Given the description of an element on the screen output the (x, y) to click on. 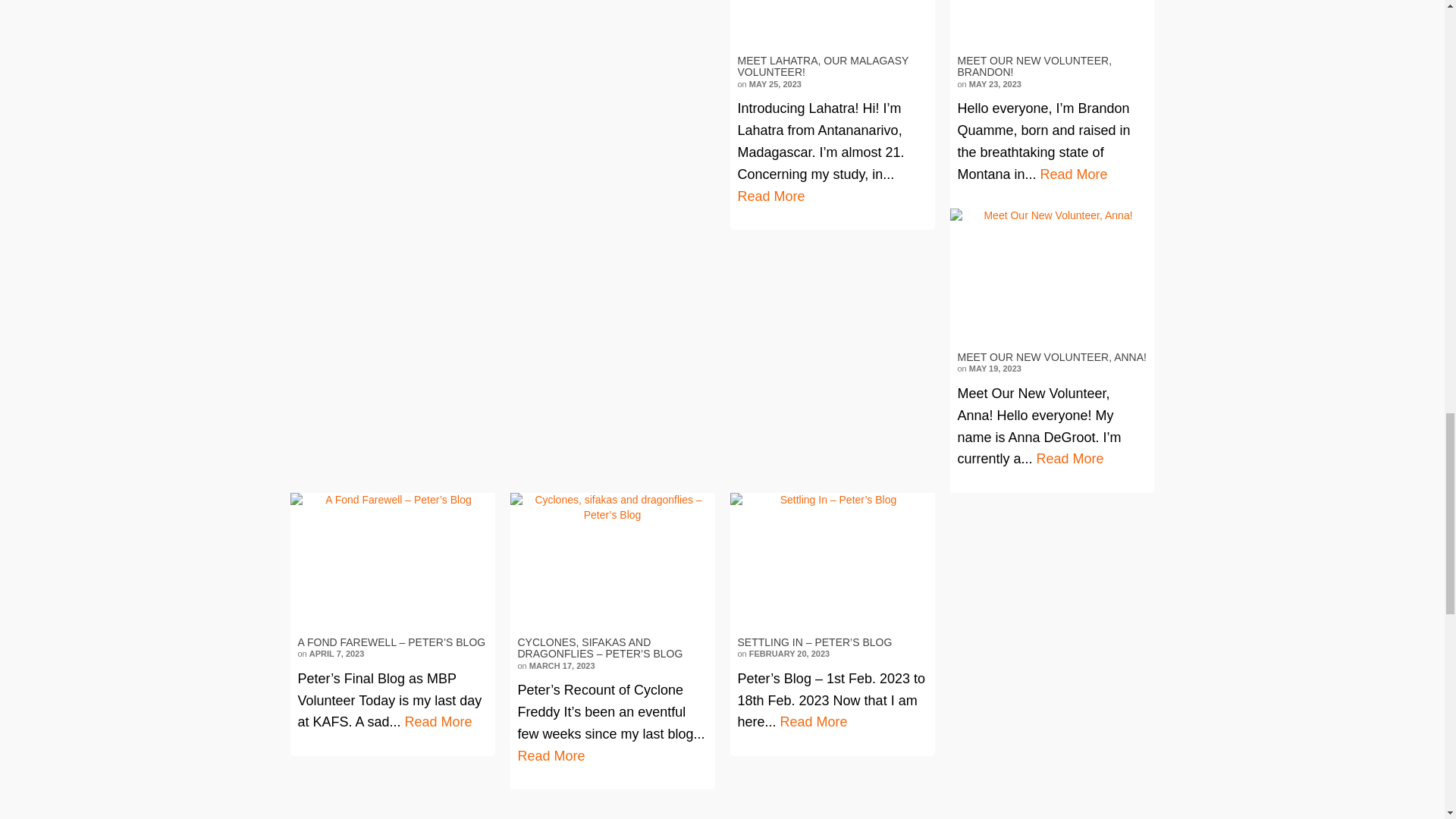
Meet Our New Volunteer, Brandon! (1051, 23)
Meet Lahatra, our Malagasy volunteer! (831, 23)
Meet Our New Volunteer, Anna! (1051, 275)
